Given the description of an element on the screen output the (x, y) to click on. 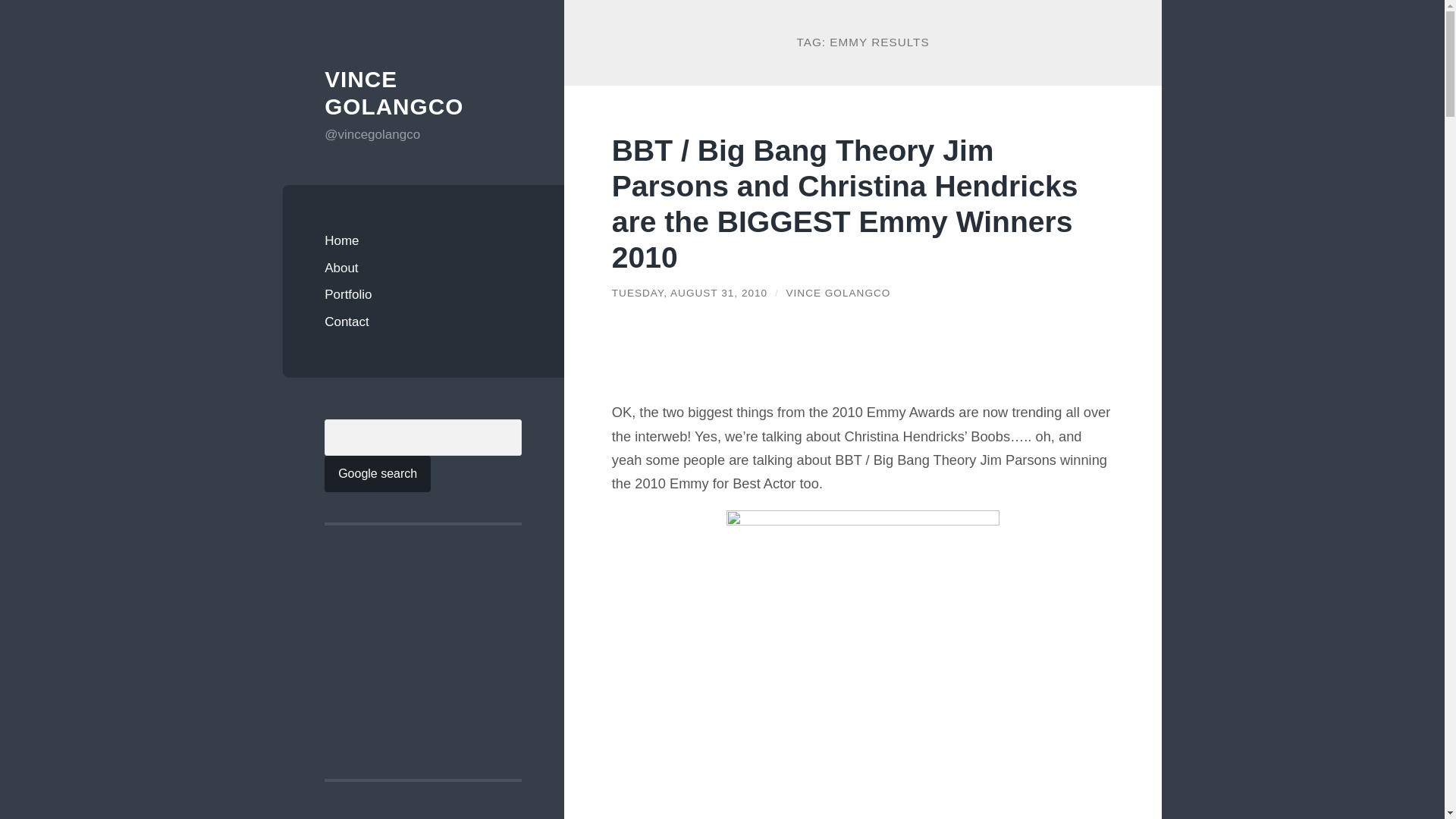
Portfolio (422, 294)
VINCE GOLANGCO (393, 92)
VINCE GOLANGCO (837, 292)
Advertisement (887, 362)
Google search (377, 473)
Google search (377, 473)
bbt--Christina-Hendricks-emmy-awards-2010-emmys (862, 663)
Home (422, 240)
Posts by Vince Golangco (837, 292)
Advertisement (437, 650)
About (422, 267)
TUESDAY, AUGUST 31, 2010 (689, 292)
Contact (422, 321)
